Given the description of an element on the screen output the (x, y) to click on. 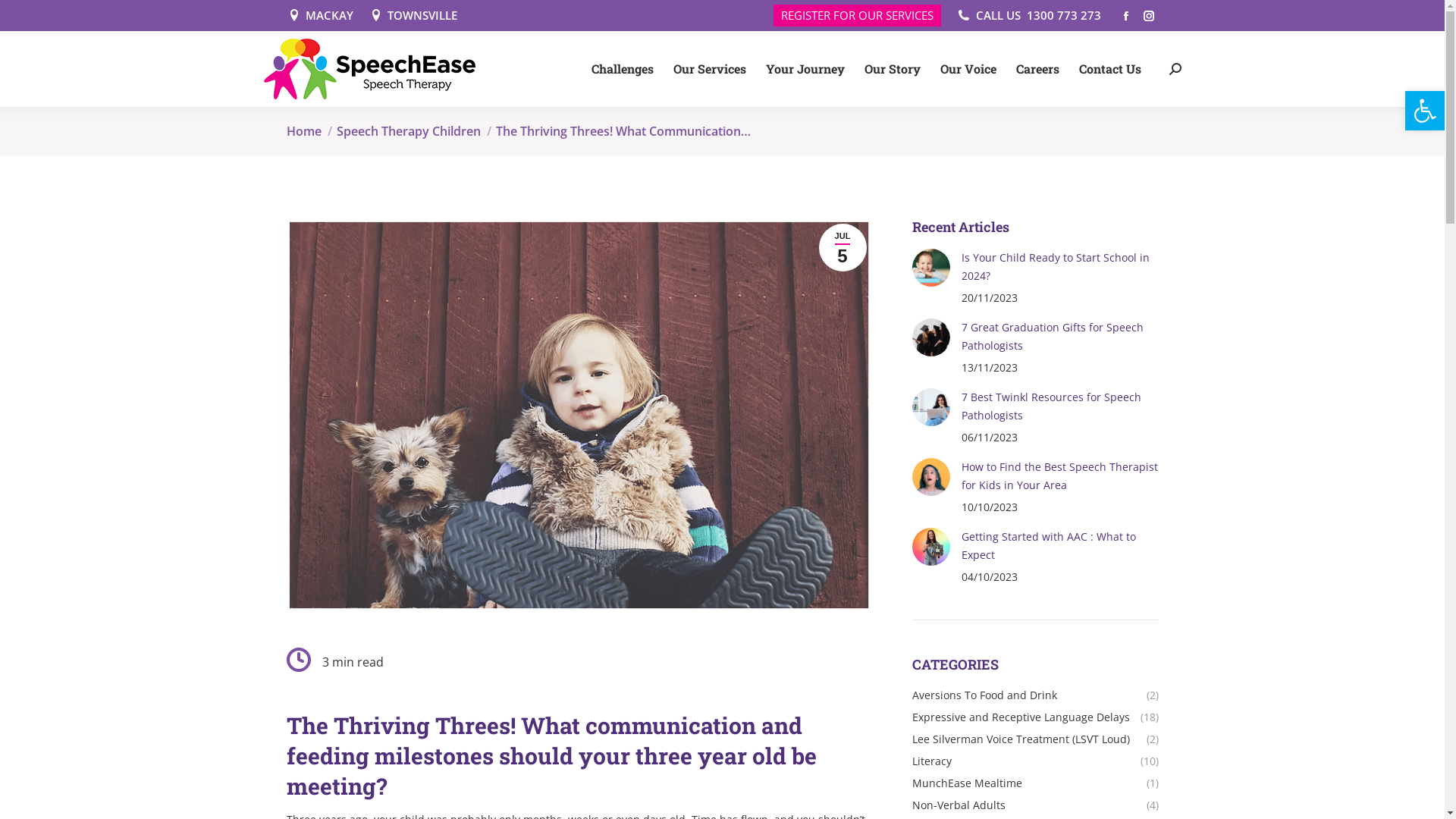
Go! Element type: text (748, 446)
How to Find the Best Speech Therapist for Kids in Your Area Element type: text (1059, 476)
Home Element type: text (303, 130)
Open toolbar
Accessibility Tools Element type: text (1424, 110)
Facebook page opens in new window Element type: text (1125, 15)
Our Services Element type: text (709, 68)
Go! Element type: text (26, 17)
Feeding milestones speecheasze townsville Element type: hover (580, 414)
7 Great Graduation Gifts for Speech Pathologists Element type: text (1059, 336)
Our Story Element type: text (892, 68)
Instagram page opens in new window Element type: text (1148, 15)
Your Journey Element type: text (805, 68)
1300 773 273 Element type: text (1063, 15)
REGISTER FOR OUR SERVICES Element type: text (857, 15)
Getting Started with AAC : What to Expect Element type: text (1059, 545)
Contact Us Element type: text (1109, 68)
TOWNSVILLE Element type: text (412, 15)
JUL
5 Element type: text (842, 247)
MACKAY Element type: text (319, 15)
Careers Element type: text (1037, 68)
7 Best Twinkl Resources for Speech Pathologists Element type: text (1059, 406)
Challenges Element type: text (622, 68)
Our Voice Element type: text (968, 68)
Is Your Child Ready to Start School in 2024? Element type: text (1059, 266)
Speech Therapy Children Element type: text (408, 130)
